Given the description of an element on the screen output the (x, y) to click on. 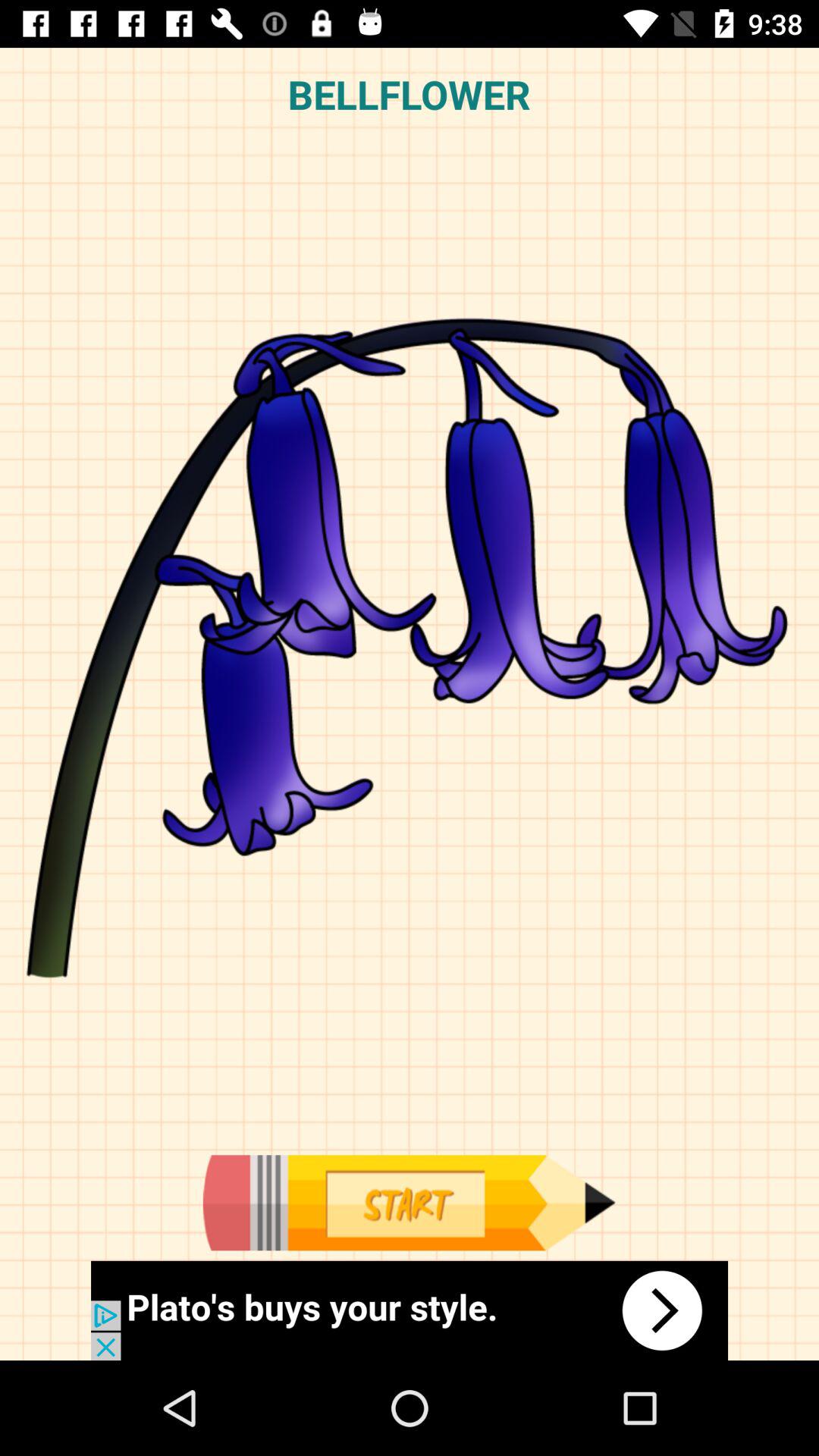
more detail about add (409, 1310)
